Given the description of an element on the screen output the (x, y) to click on. 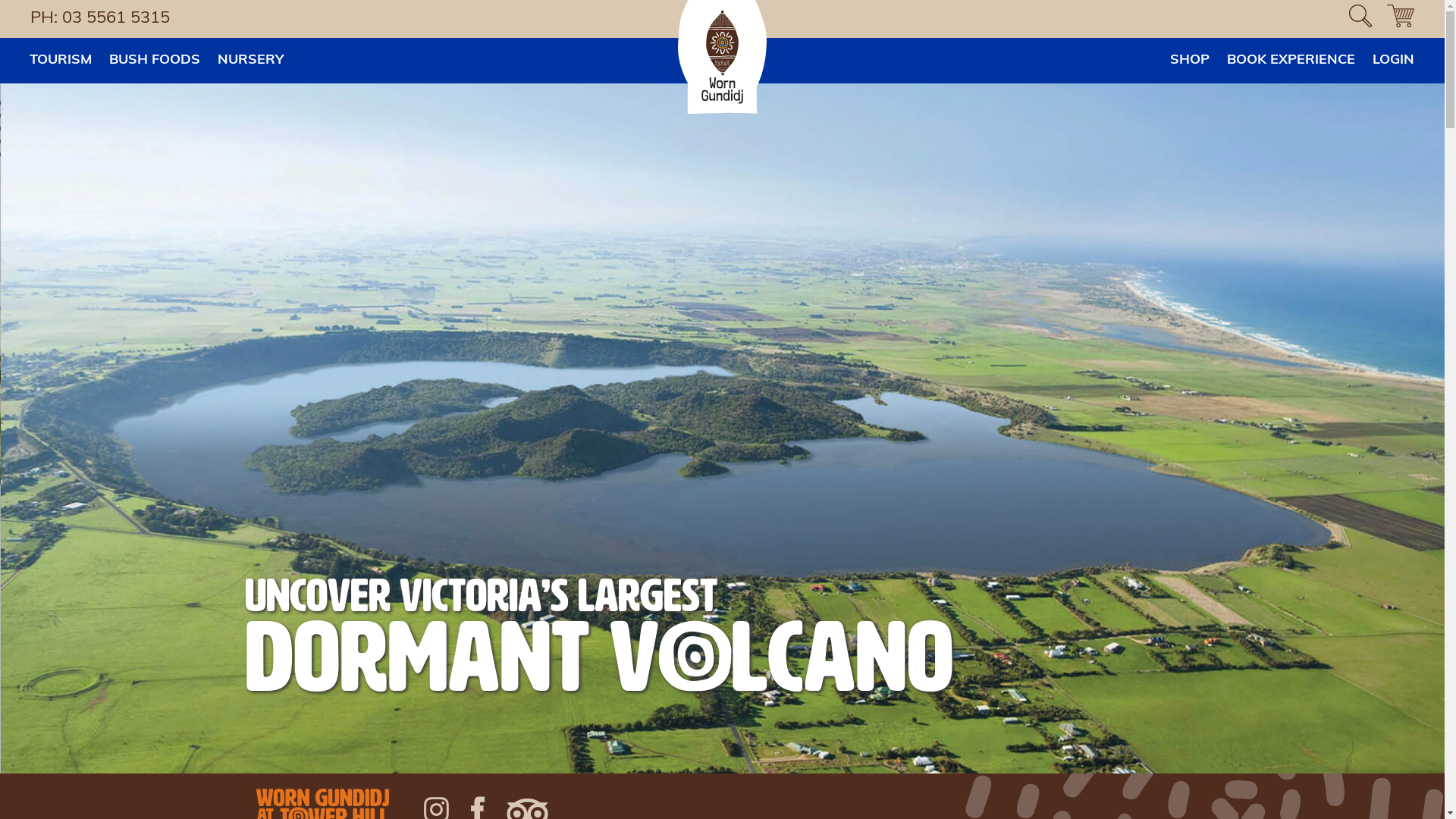
PH: 03 5561 5315 Element type: text (103, 18)
BUSH FOODS Element type: text (154, 60)
NURSERY Element type: text (250, 60)
SHOP Element type: text (1189, 60)
TOURISM Element type: text (60, 60)
BOOK EXPERIENCE Element type: text (1290, 60)
LOGIN Element type: text (1393, 60)
Search Element type: text (30, 20)
Cart Element type: hover (1400, 18)
